Given the description of an element on the screen output the (x, y) to click on. 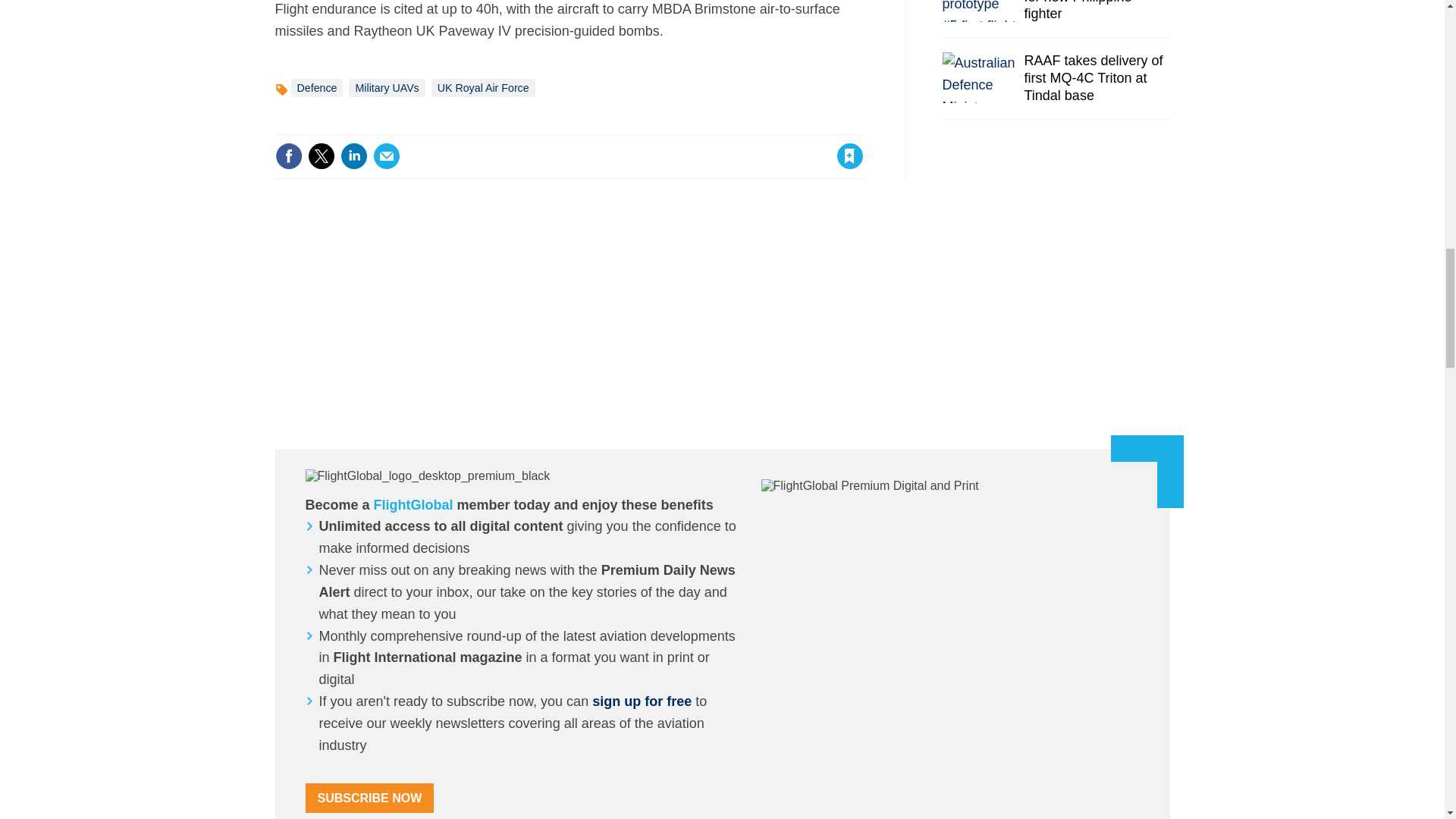
Share this on Twitter (320, 155)
Share this on Linked in (352, 155)
Email this article (386, 155)
Share this on Facebook (288, 155)
